Given the description of an element on the screen output the (x, y) to click on. 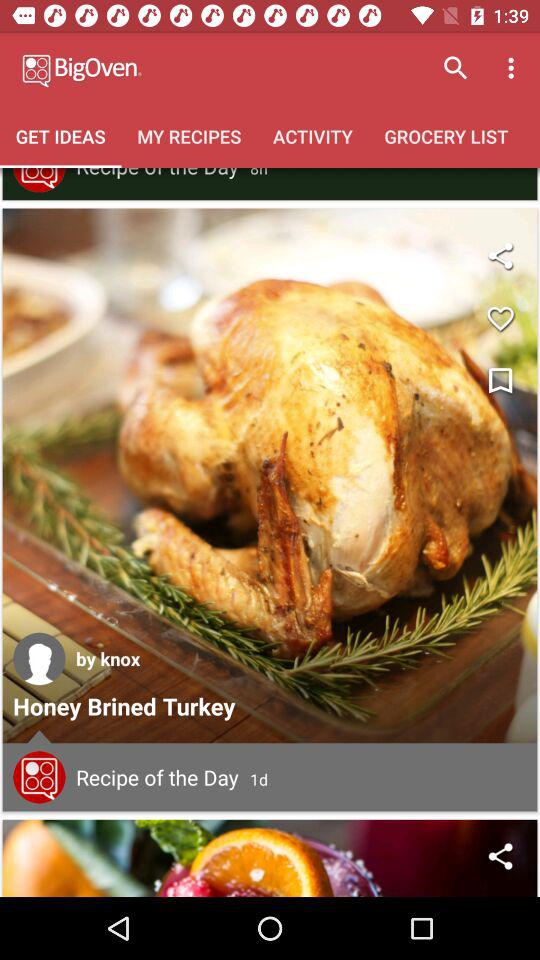
share recipe (500, 856)
